Given the description of an element on the screen output the (x, y) to click on. 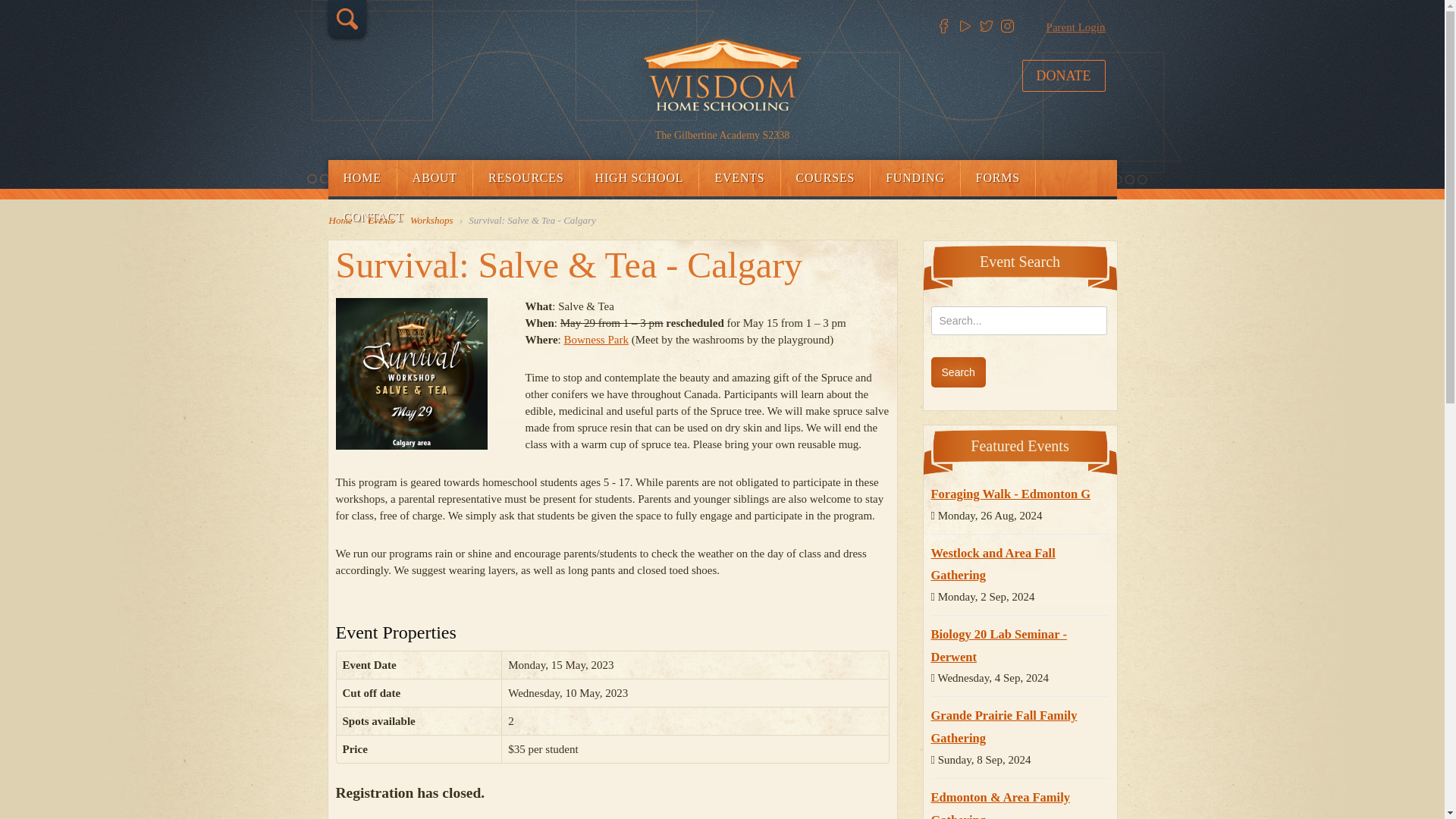
Search (958, 372)
Search (958, 372)
